Given the description of an element on the screen output the (x, y) to click on. 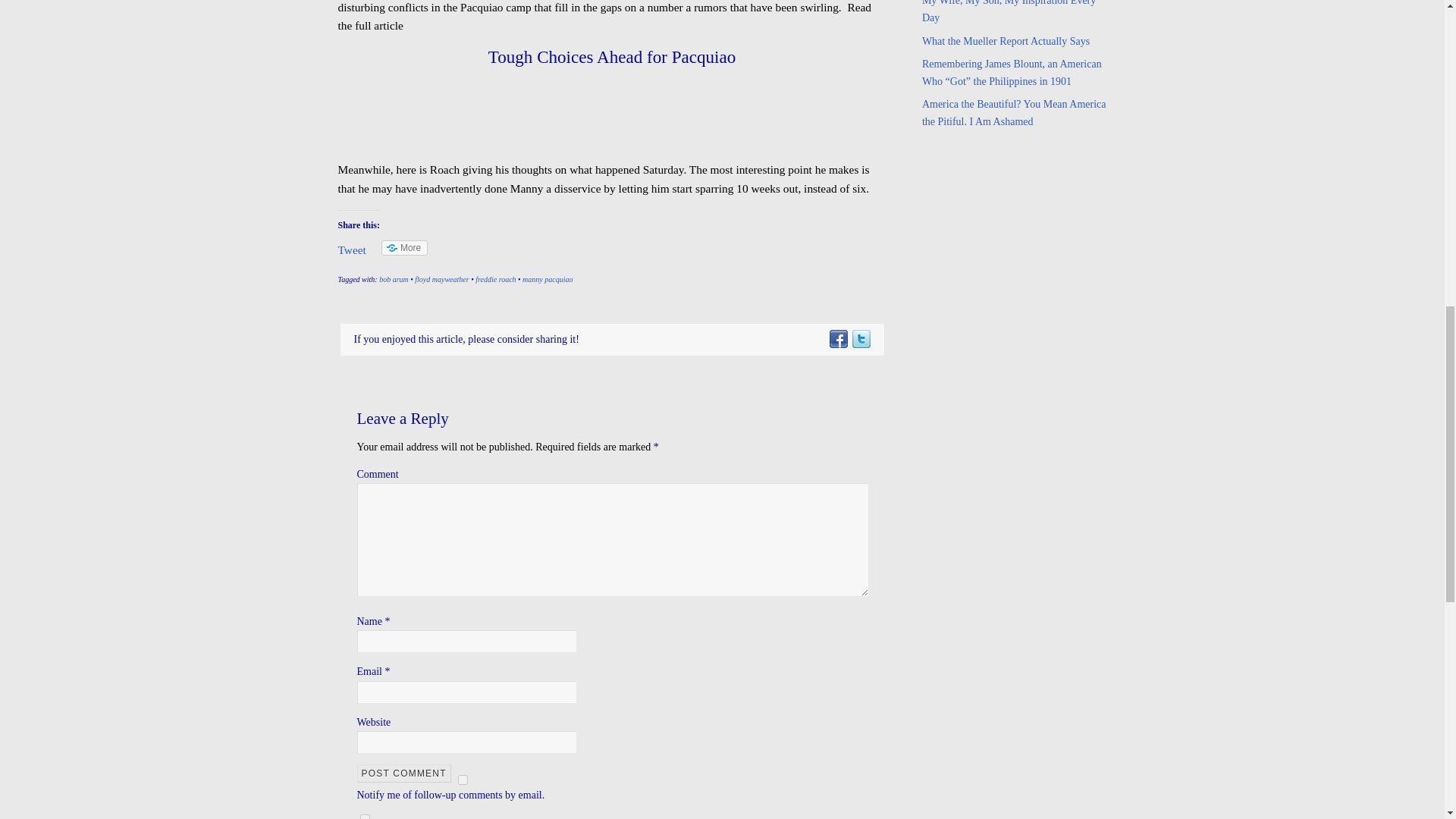
Tough Choices Ahead for Pacquiao (611, 56)
manny pacquiao (547, 279)
subscribe (364, 816)
What the Mueller Report Actually Says (1005, 40)
floyd mayweather (441, 279)
More (404, 246)
Tweet (351, 248)
Post Comment (402, 773)
freddie roach (495, 279)
bob arum (393, 279)
Share on Twitter (860, 338)
Post Comment (402, 773)
subscribe (462, 779)
Share on Facebook (837, 338)
